Given the description of an element on the screen output the (x, y) to click on. 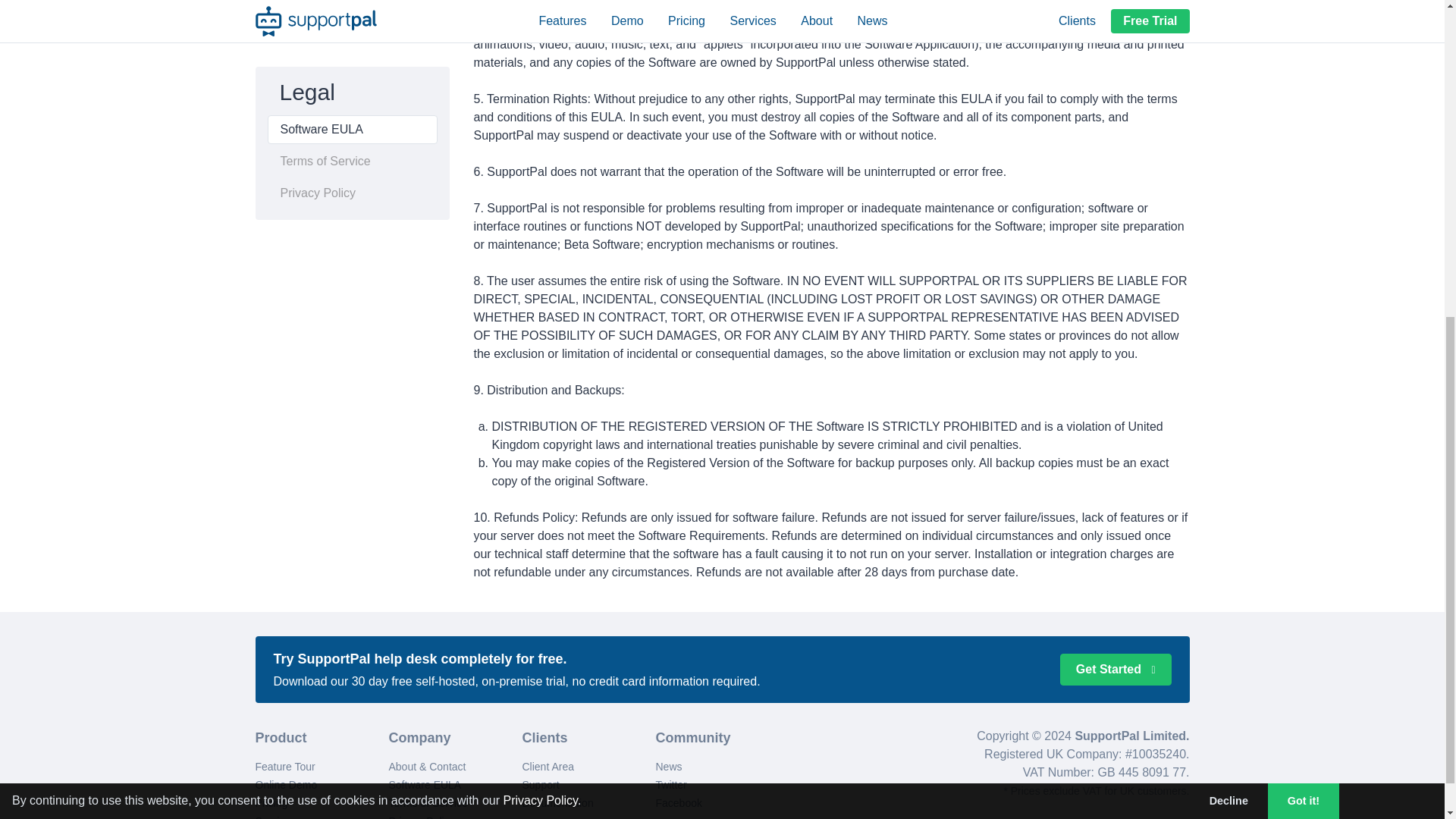
Support (540, 784)
Terms of Service (427, 802)
Got it! (1303, 263)
Documentation (556, 802)
Client Area (547, 766)
Get Started   (1115, 669)
Pricing (270, 802)
Online Demo (285, 784)
Feature Tour (284, 766)
Privacy Policy (539, 262)
Facebook (678, 802)
Twitter (670, 784)
News (668, 766)
Decline (1228, 263)
Software EULA (424, 784)
